Given the description of an element on the screen output the (x, y) to click on. 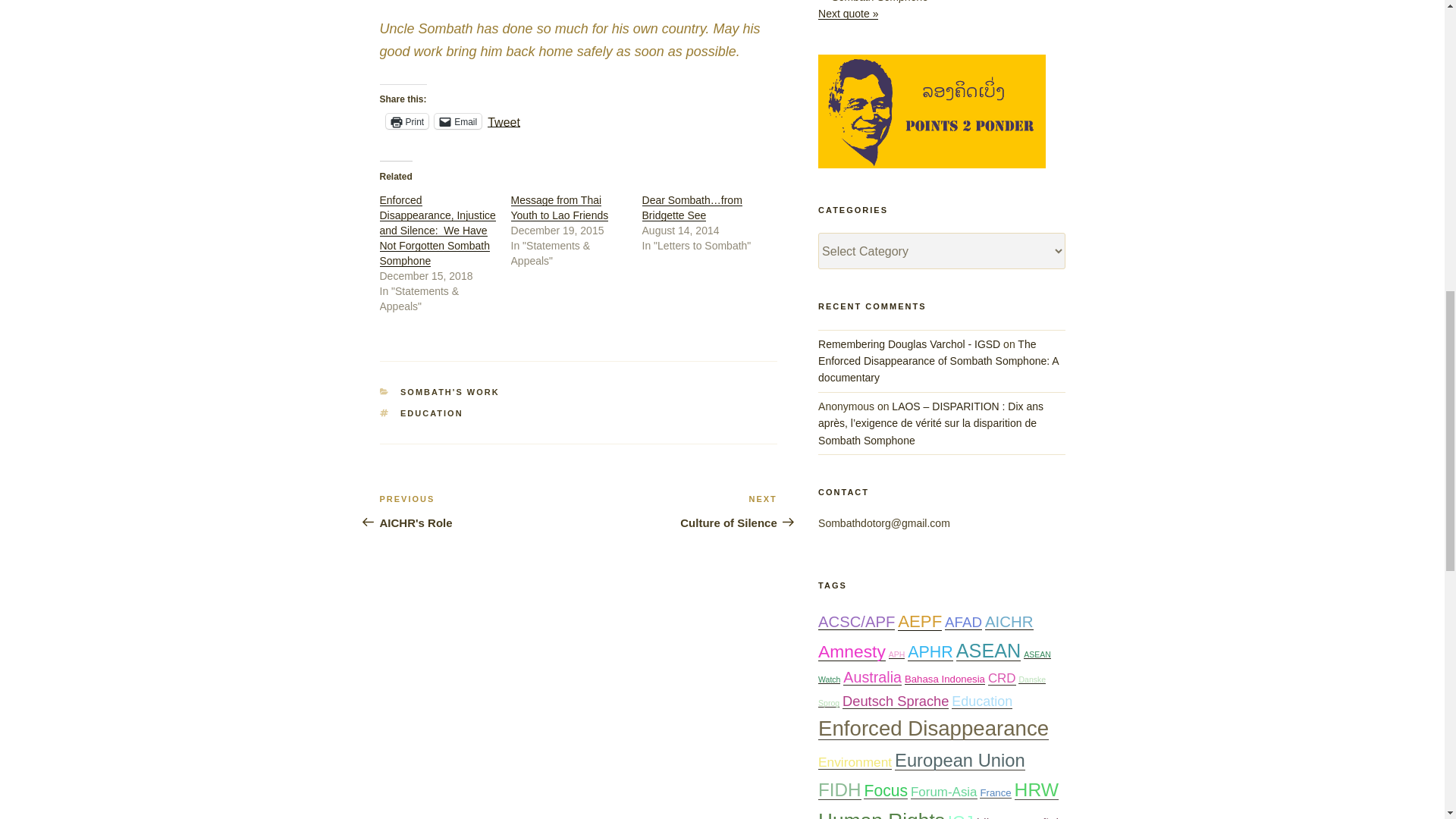
Remembering Douglas Varchol - IGSD (909, 344)
Message from Thai Youth to Lao Friends (559, 207)
Message from Thai Youth to Lao Friends (559, 207)
SOMBATH'S WORK (449, 391)
Click to print (406, 120)
Tweet (677, 511)
EDUCATION (503, 120)
